Given the description of an element on the screen output the (x, y) to click on. 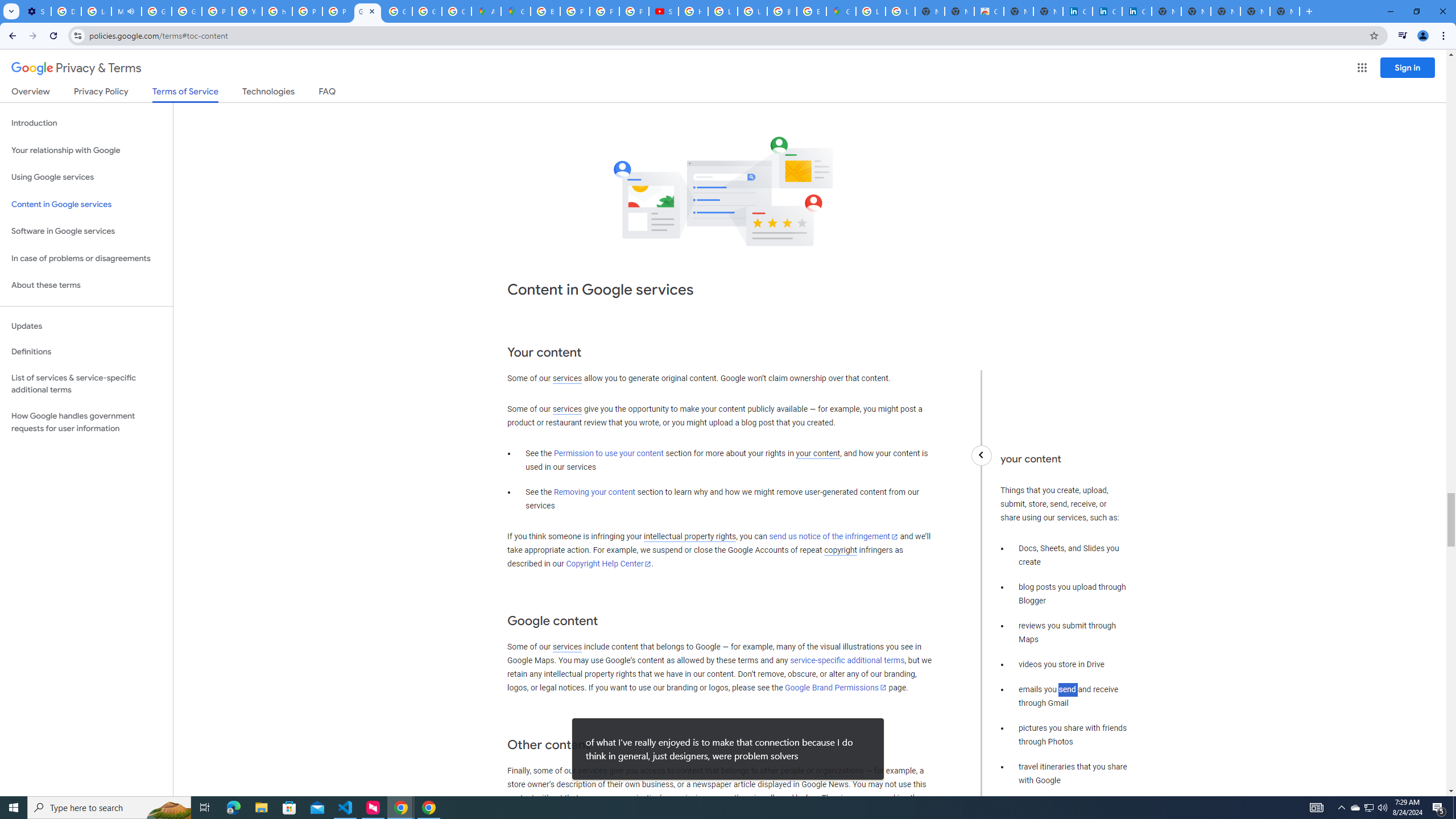
Content in Google services (86, 204)
In case of problems or disagreements (86, 258)
intellectual property rights (689, 536)
organizations (839, 770)
Privacy Help Center - Policies Help (574, 11)
